Given the description of an element on the screen output the (x, y) to click on. 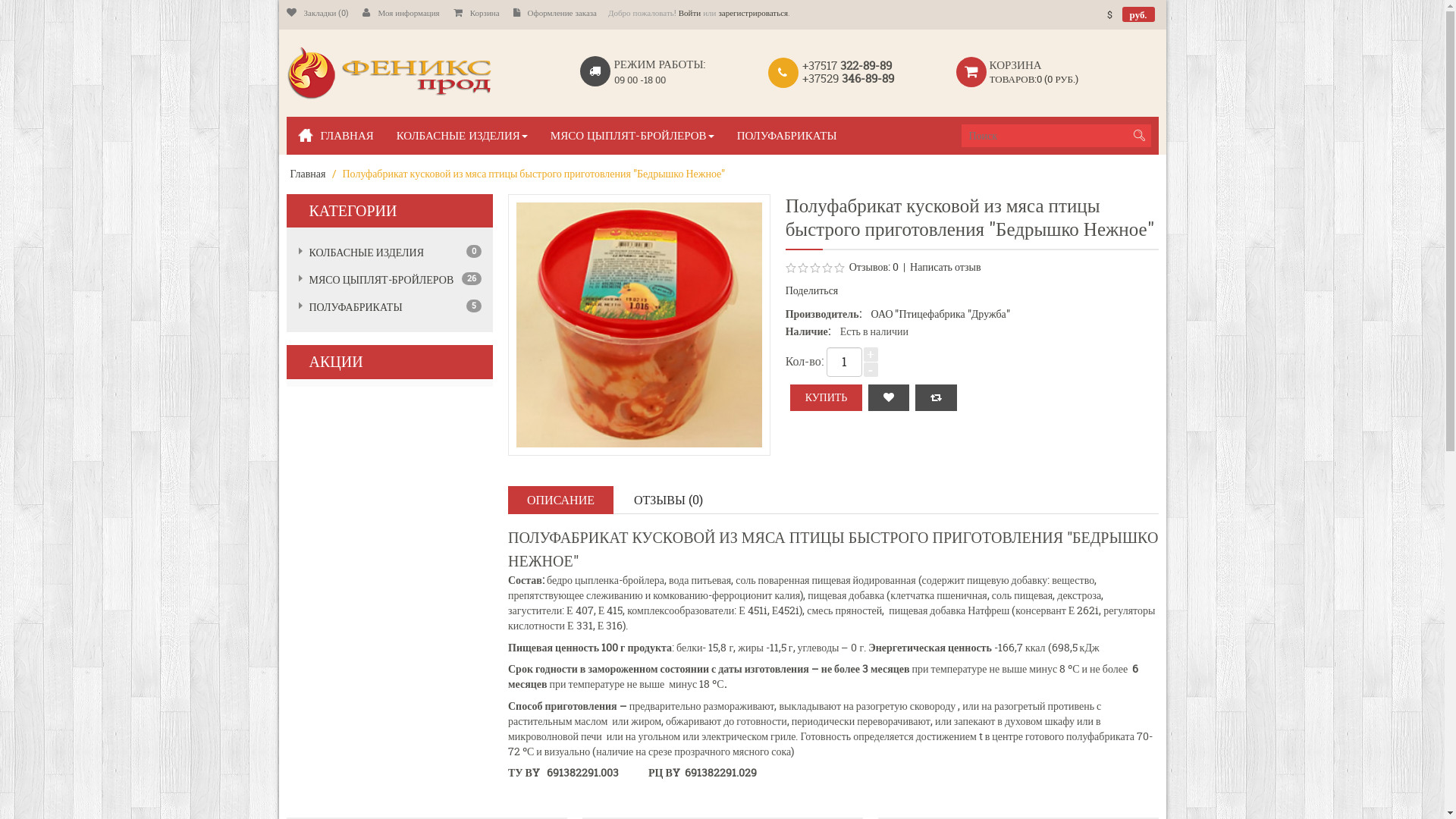
$ Element type: text (1109, 14)
